Given the description of an element on the screen output the (x, y) to click on. 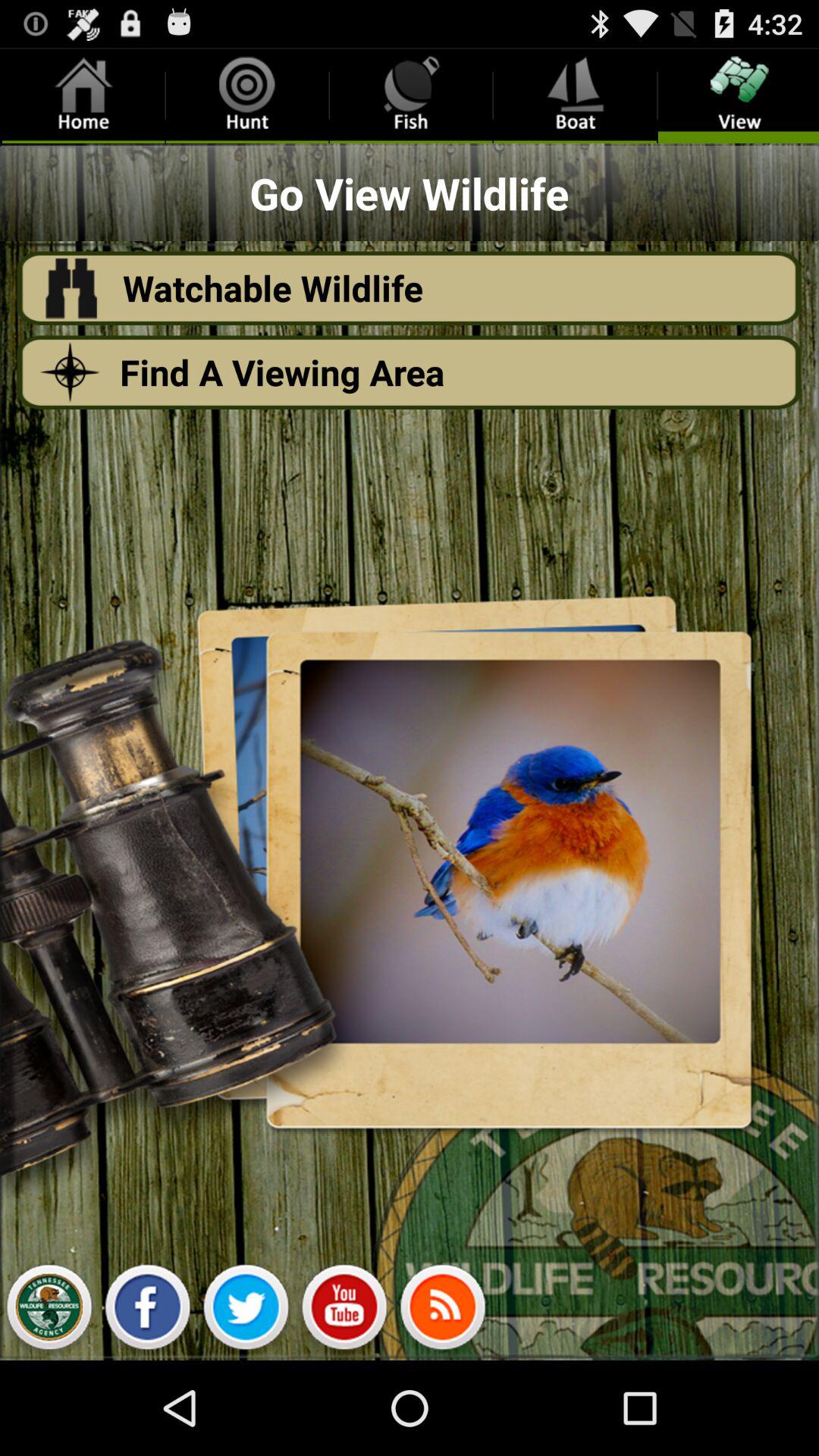
go to youtub (344, 1311)
